Given the description of an element on the screen output the (x, y) to click on. 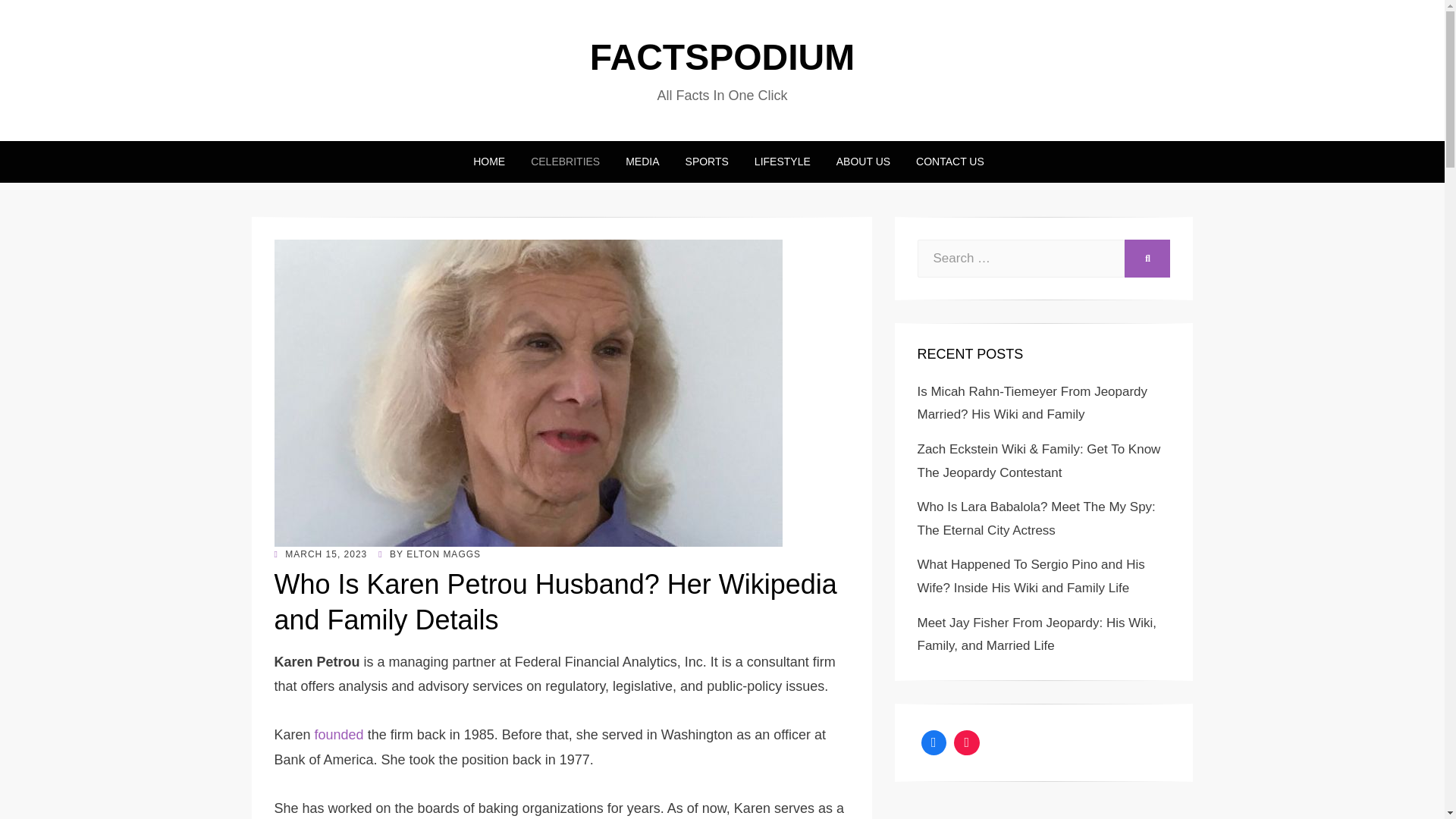
founded (339, 734)
MARCH 15, 2023 (321, 553)
CELEBRITIES (565, 161)
ELTON MAGGS (443, 553)
Search for: (1021, 258)
FACTSPODIUM (721, 56)
Youtube (967, 743)
SEARCH (1147, 258)
HOME (489, 161)
ABOUT US (863, 161)
FACTSPODIUM (721, 56)
